Given the description of an element on the screen output the (x, y) to click on. 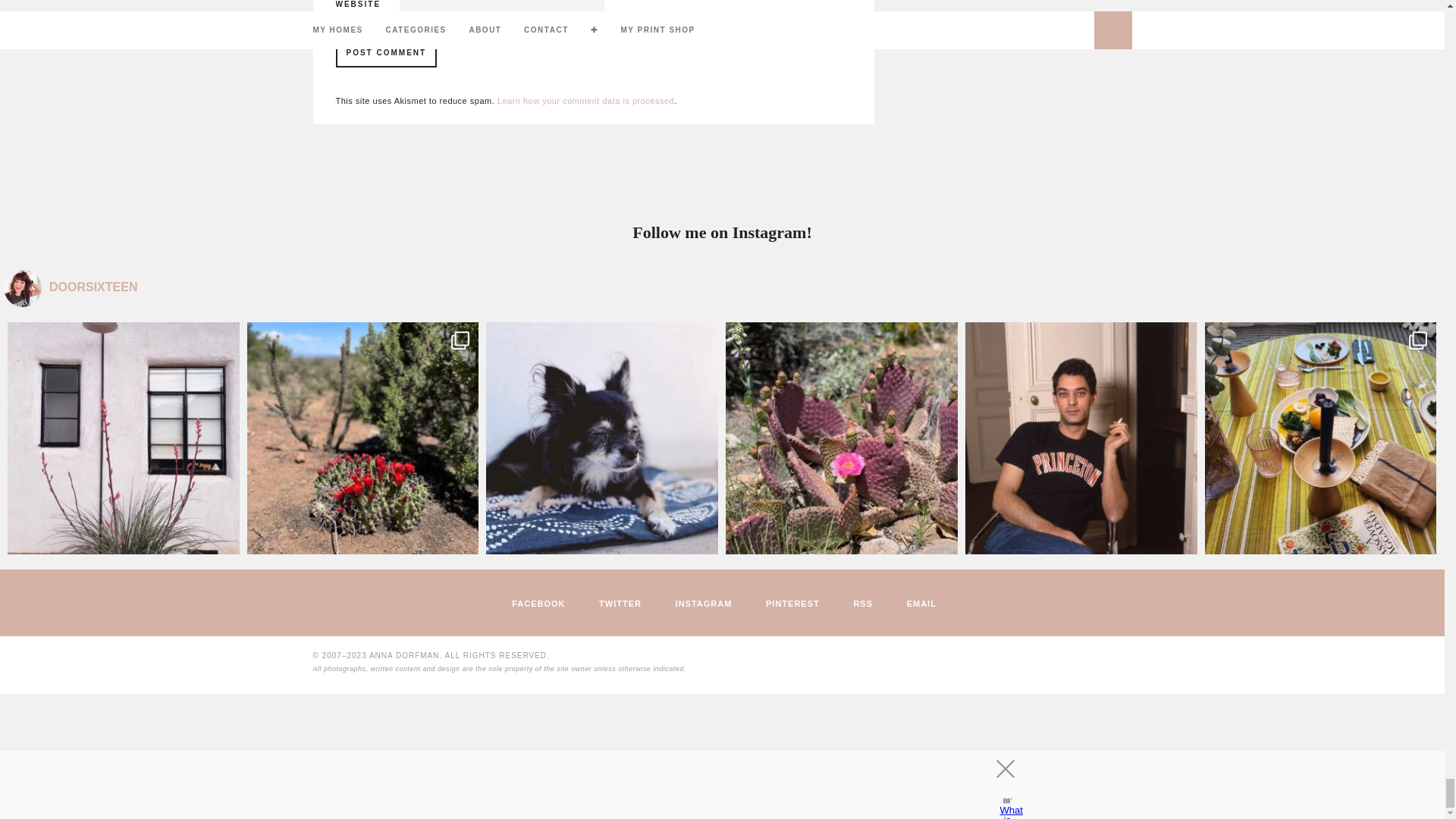
Post Comment (385, 52)
